Given the description of an element on the screen output the (x, y) to click on. 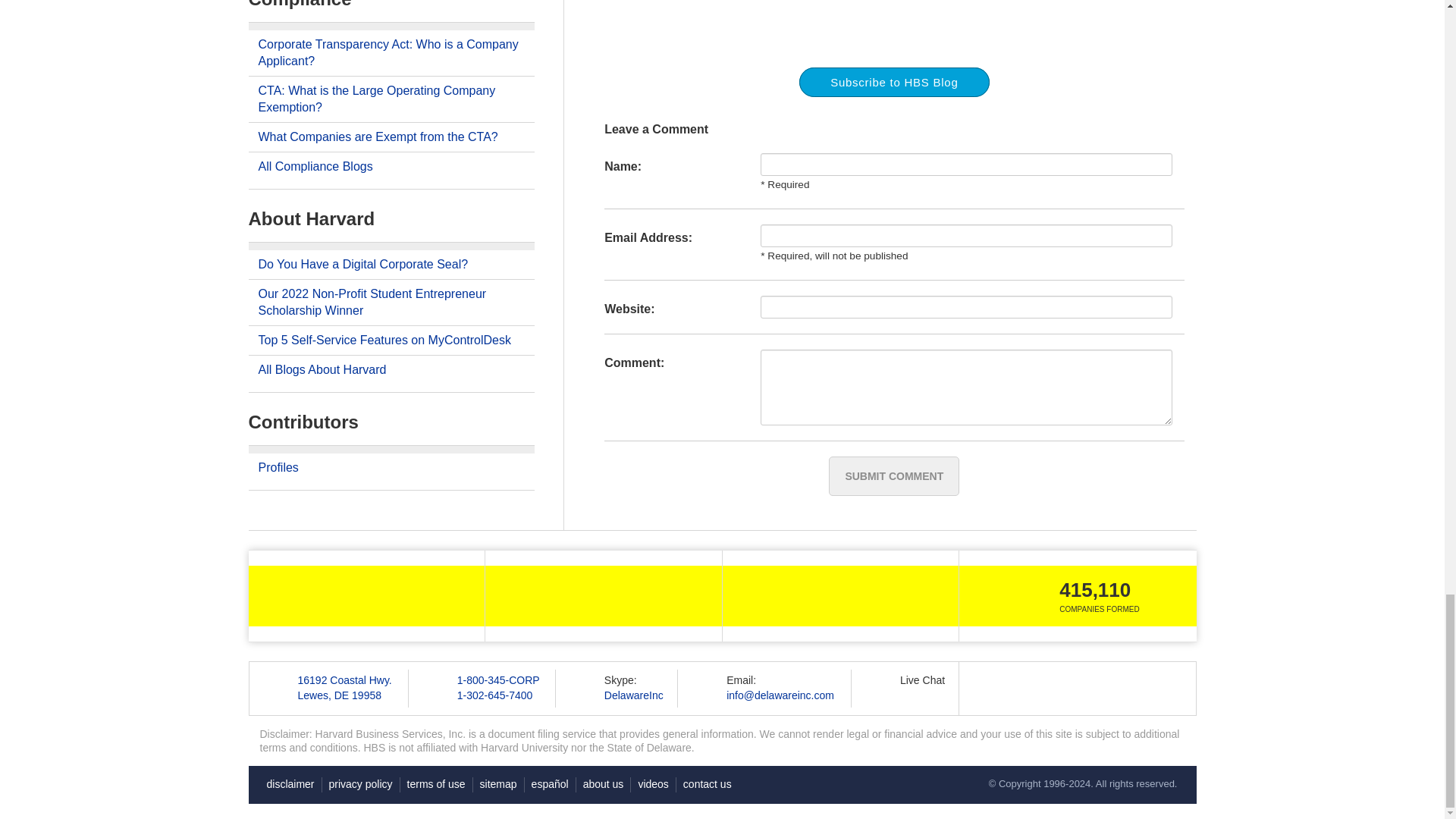
Submit Comment (893, 476)
